Given the description of an element on the screen output the (x, y) to click on. 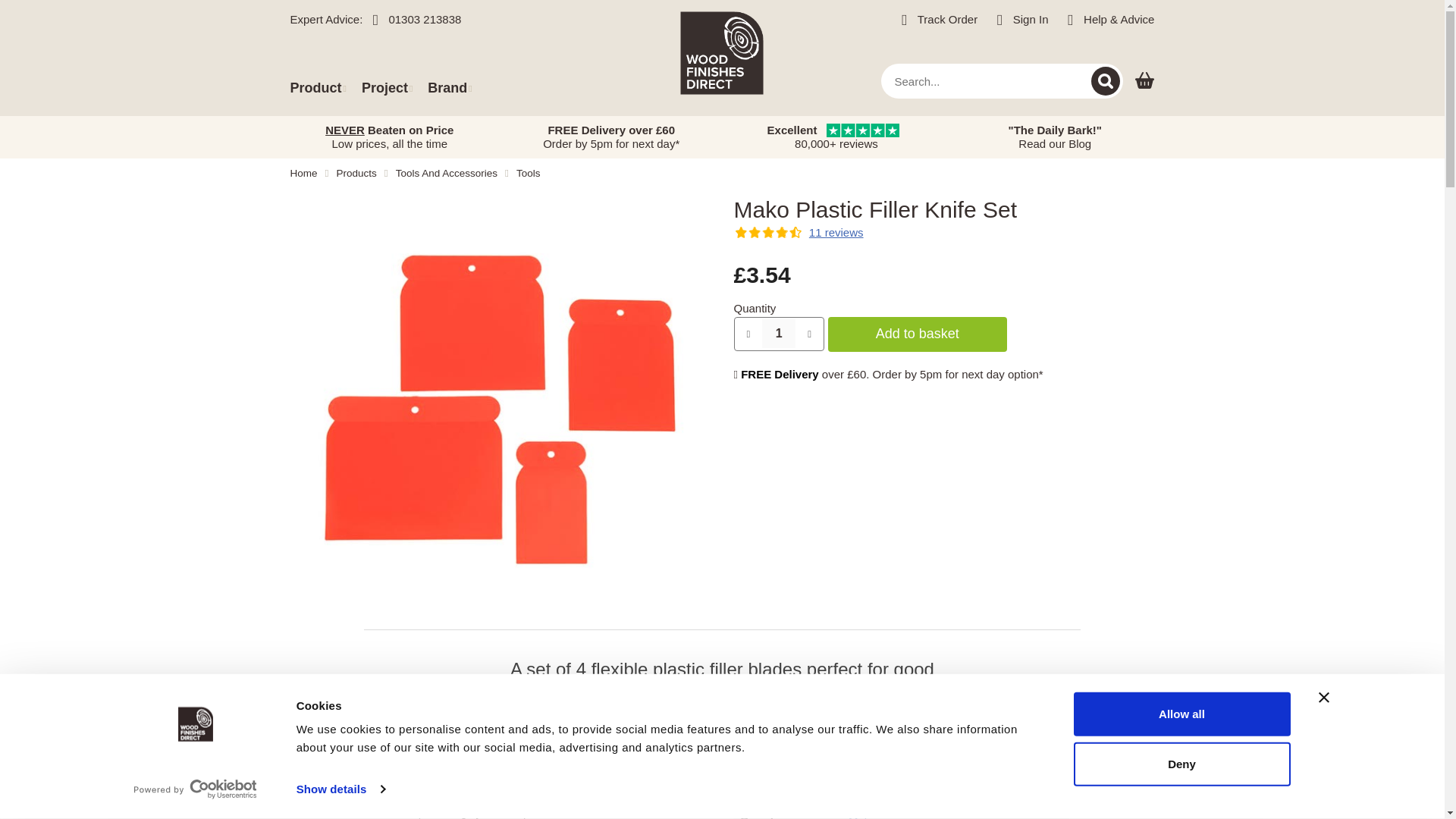
Show details (340, 789)
1 (777, 333)
